Given the description of an element on the screen output the (x, y) to click on. 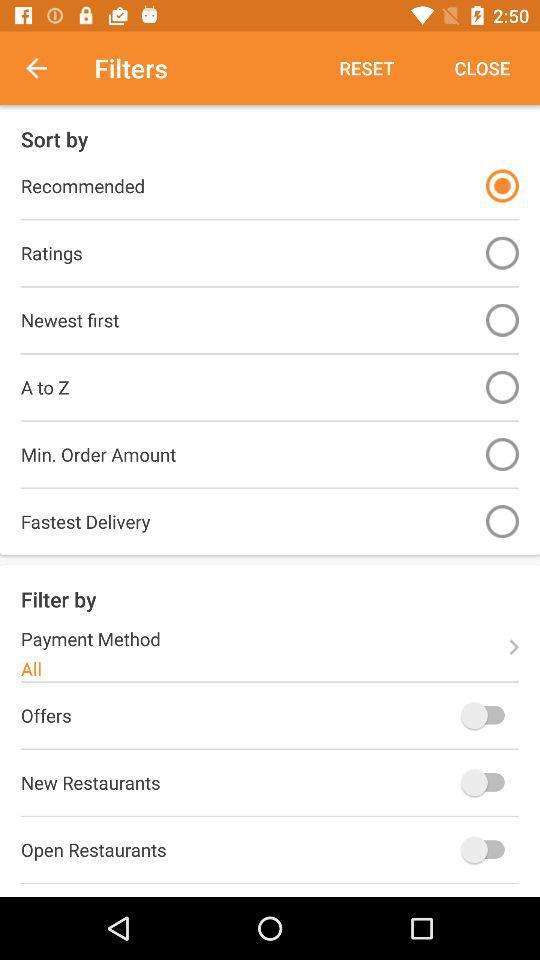
tap the icon below the sort by item (502, 185)
